Given the description of an element on the screen output the (x, y) to click on. 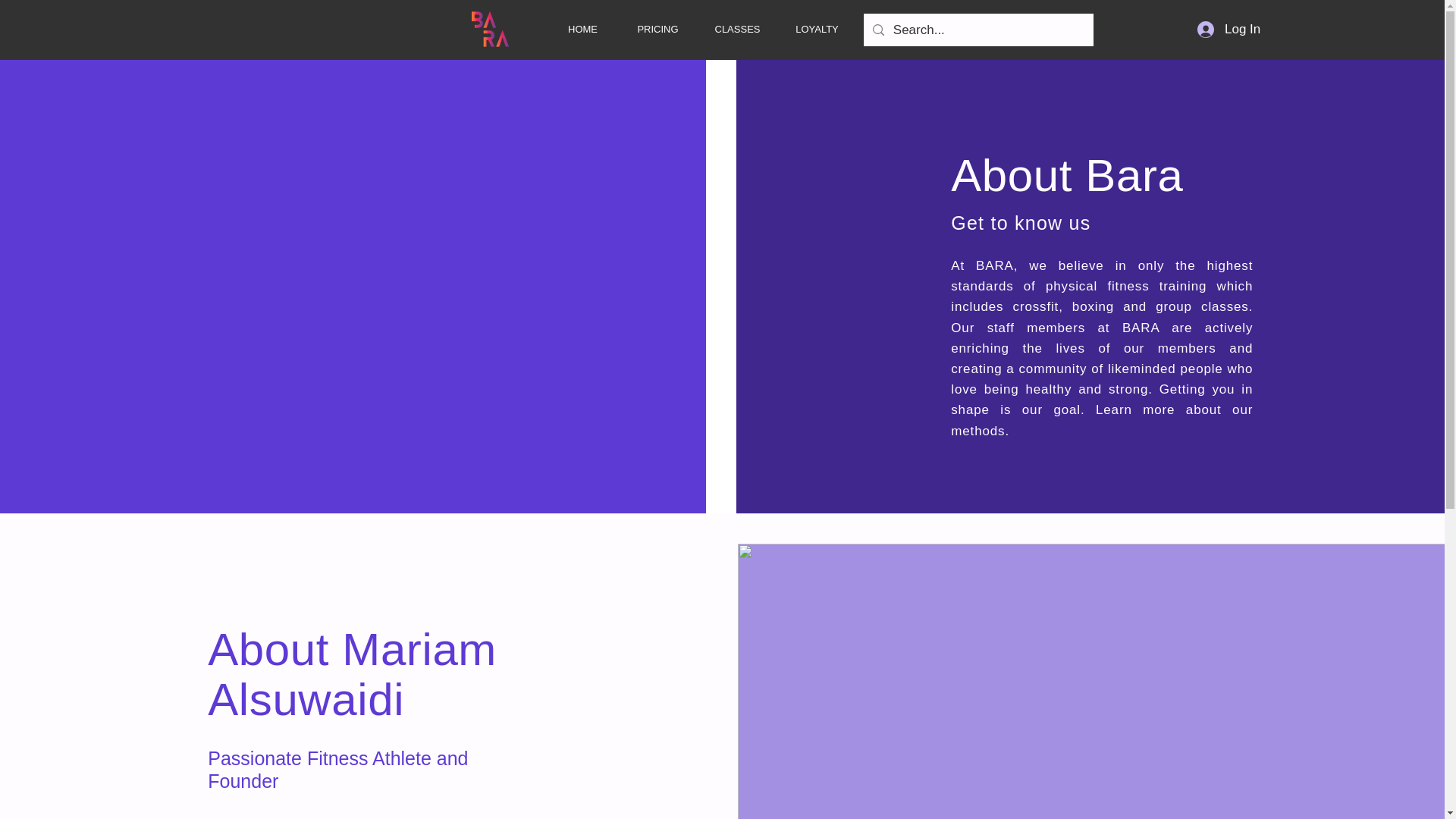
Log In (1227, 29)
WODs (892, 29)
ABOUT (962, 29)
MEMBERS (1041, 29)
HOME (582, 29)
LOYALTY (817, 29)
CLASSES (737, 29)
PRICING (657, 29)
